Given the description of an element on the screen output the (x, y) to click on. 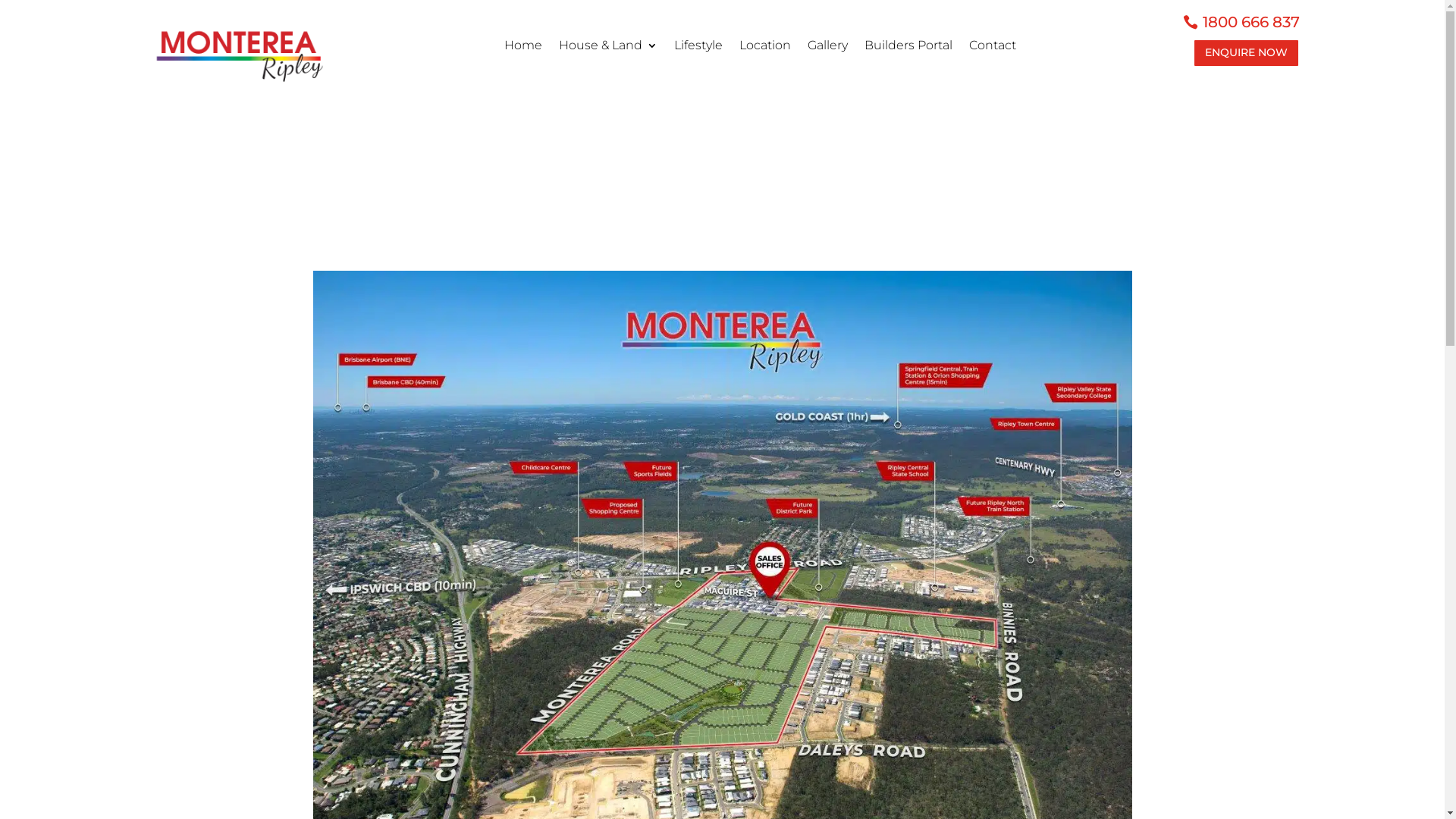
Contact Element type: text (992, 48)
House & Land Element type: text (607, 48)
Gallery Element type: text (827, 48)
Location Element type: text (764, 48)
Builders Portal Element type: text (908, 48)
Home Element type: text (523, 48)
Lifestyle Element type: text (698, 48)
Monterea-Ripley-logo-clear-background-web Element type: hover (238, 52)
ENQUIRE NOW Element type: text (1245, 52)
1800 666 837 Element type: text (1250, 21)
